Given the description of an element on the screen output the (x, y) to click on. 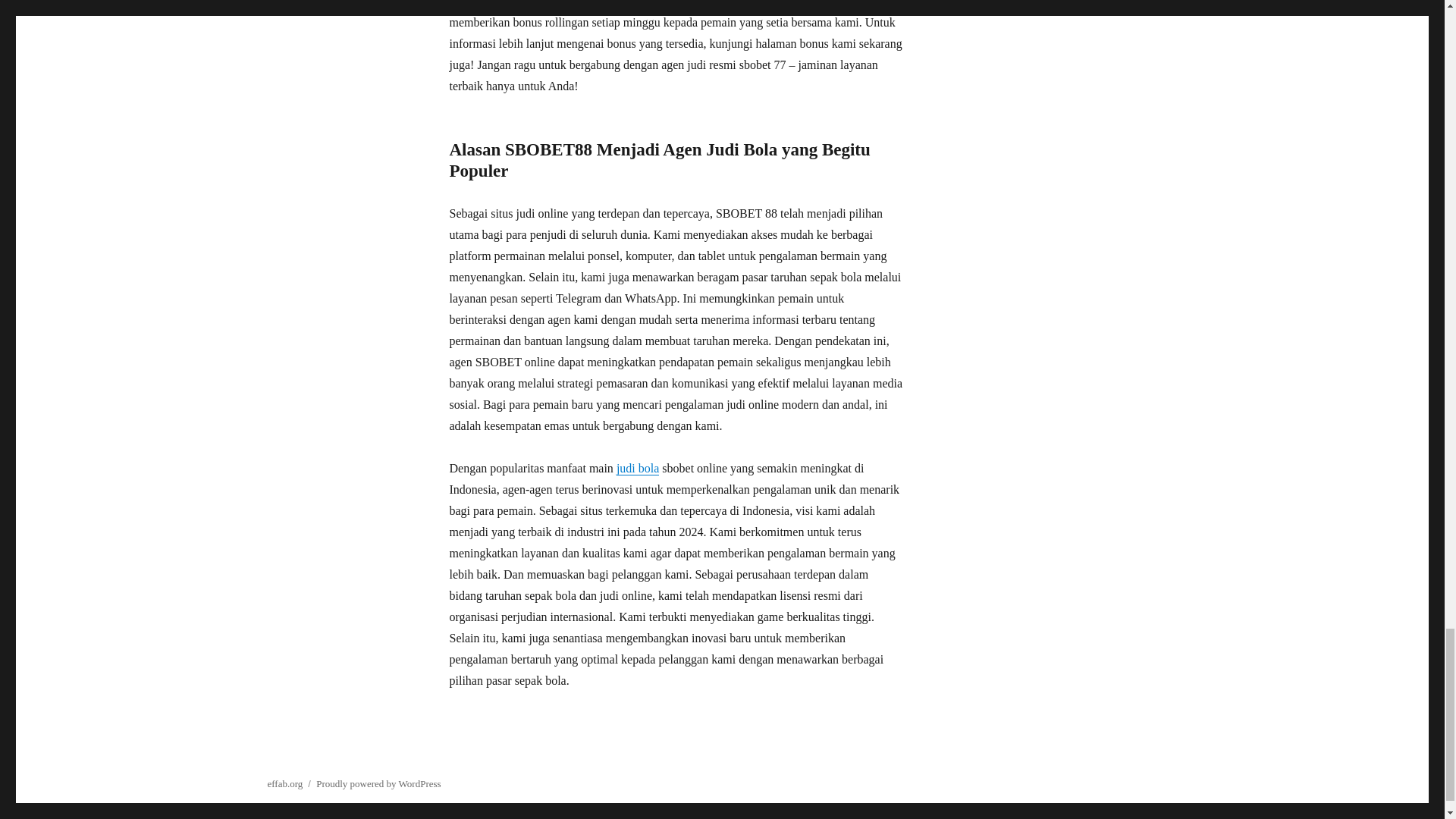
judi bola (637, 468)
Proudly powered by WordPress (378, 783)
effab.org (284, 783)
